Given the description of an element on the screen output the (x, y) to click on. 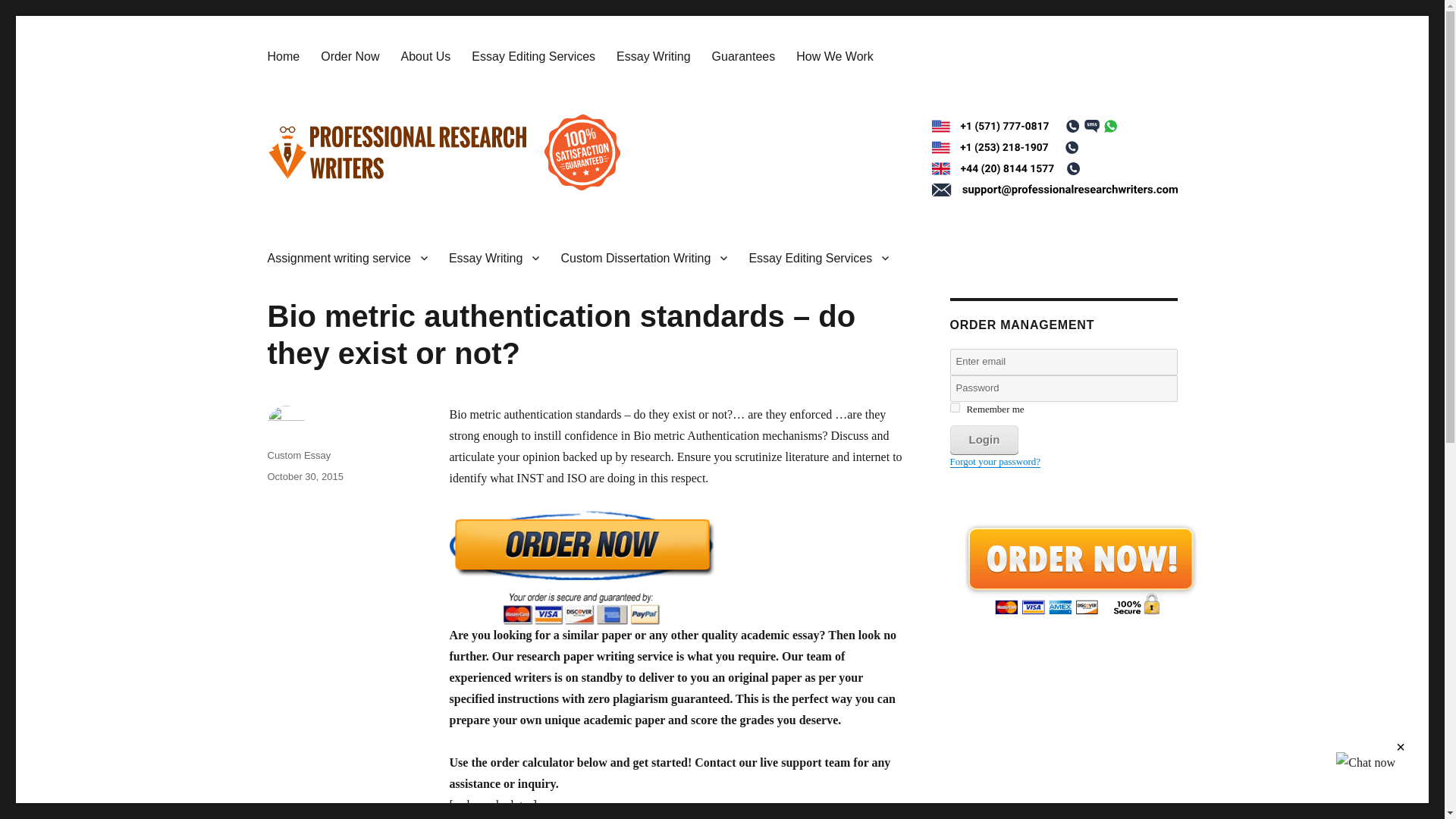
Custom Dissertation Writing (644, 257)
Essay Writing (494, 257)
Essay Editing Services (533, 56)
About Us (425, 56)
How We Work (834, 56)
Recover password (995, 460)
click to Login (983, 439)
Guarantees (743, 56)
on (954, 407)
Click to Order (1079, 568)
Order Now (350, 56)
Click to Order (676, 567)
Essay Writing (653, 56)
Home (283, 56)
Assignment writing service (347, 257)
